Given the description of an element on the screen output the (x, y) to click on. 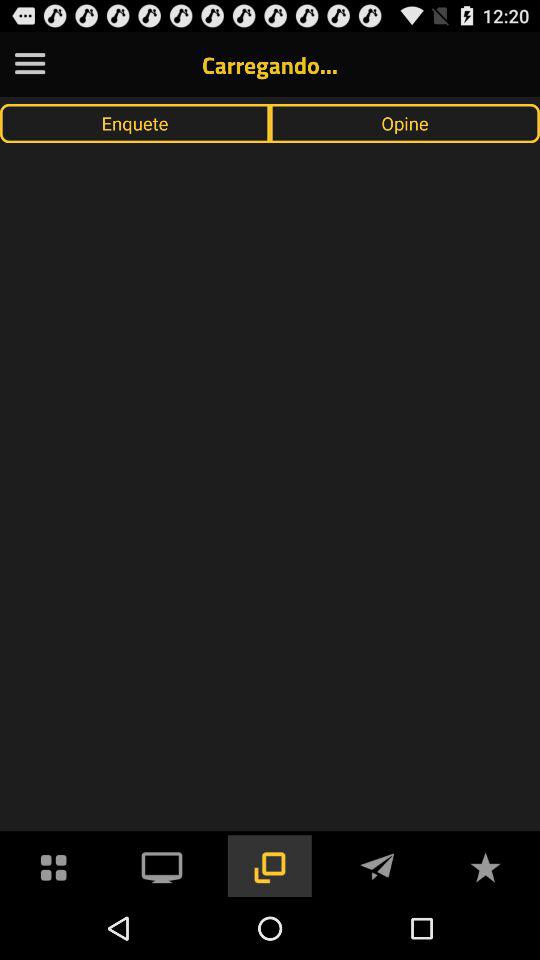
open menu (29, 64)
